Given the description of an element on the screen output the (x, y) to click on. 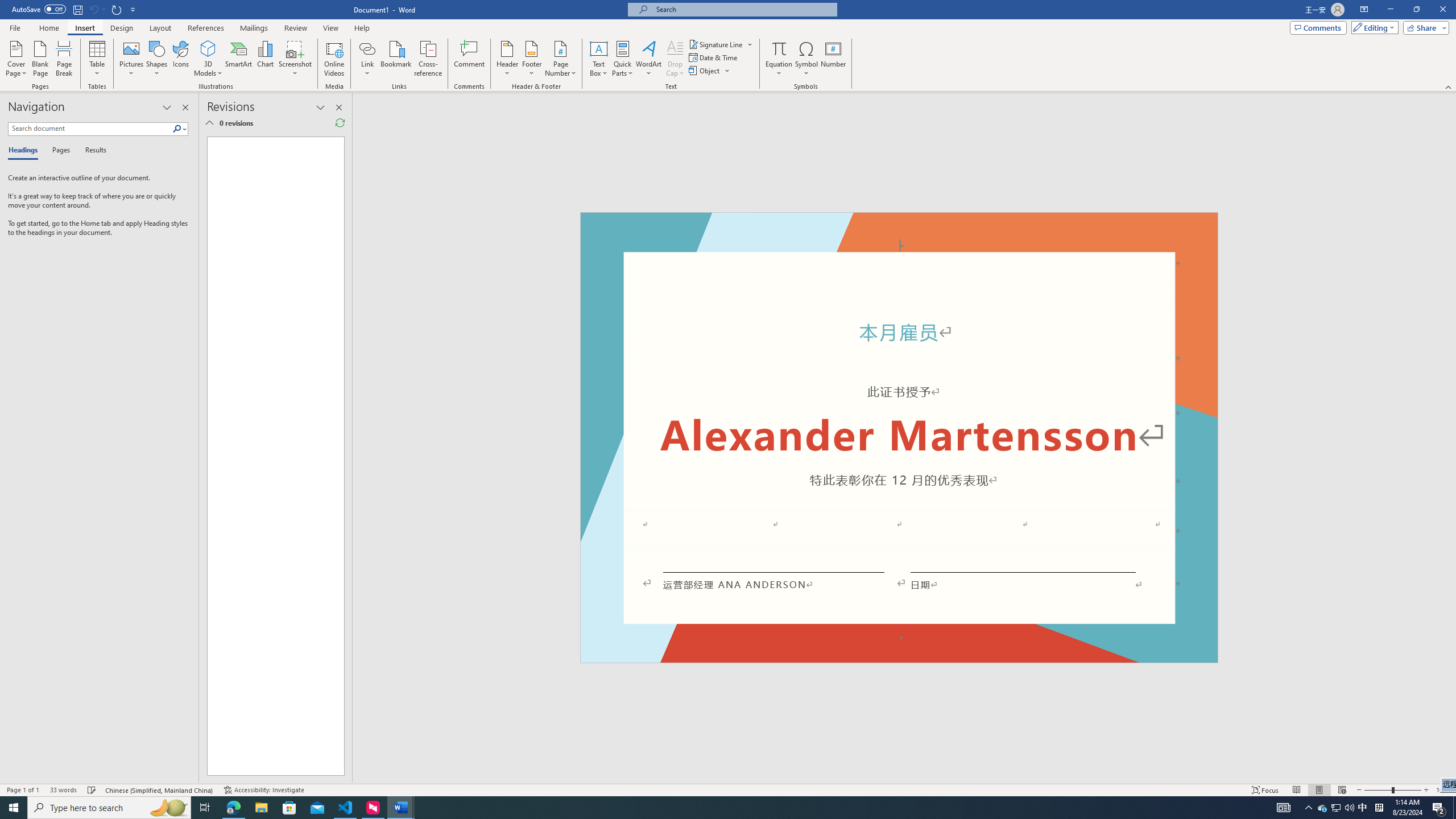
Show Detailed Summary (209, 122)
Can't Undo (92, 9)
3D Models (208, 58)
Spelling and Grammar Check Checking (91, 790)
Zoom (1392, 790)
Microsoft search (742, 9)
Accessibility Checker Accessibility: Investigate (263, 790)
